Given the description of an element on the screen output the (x, y) to click on. 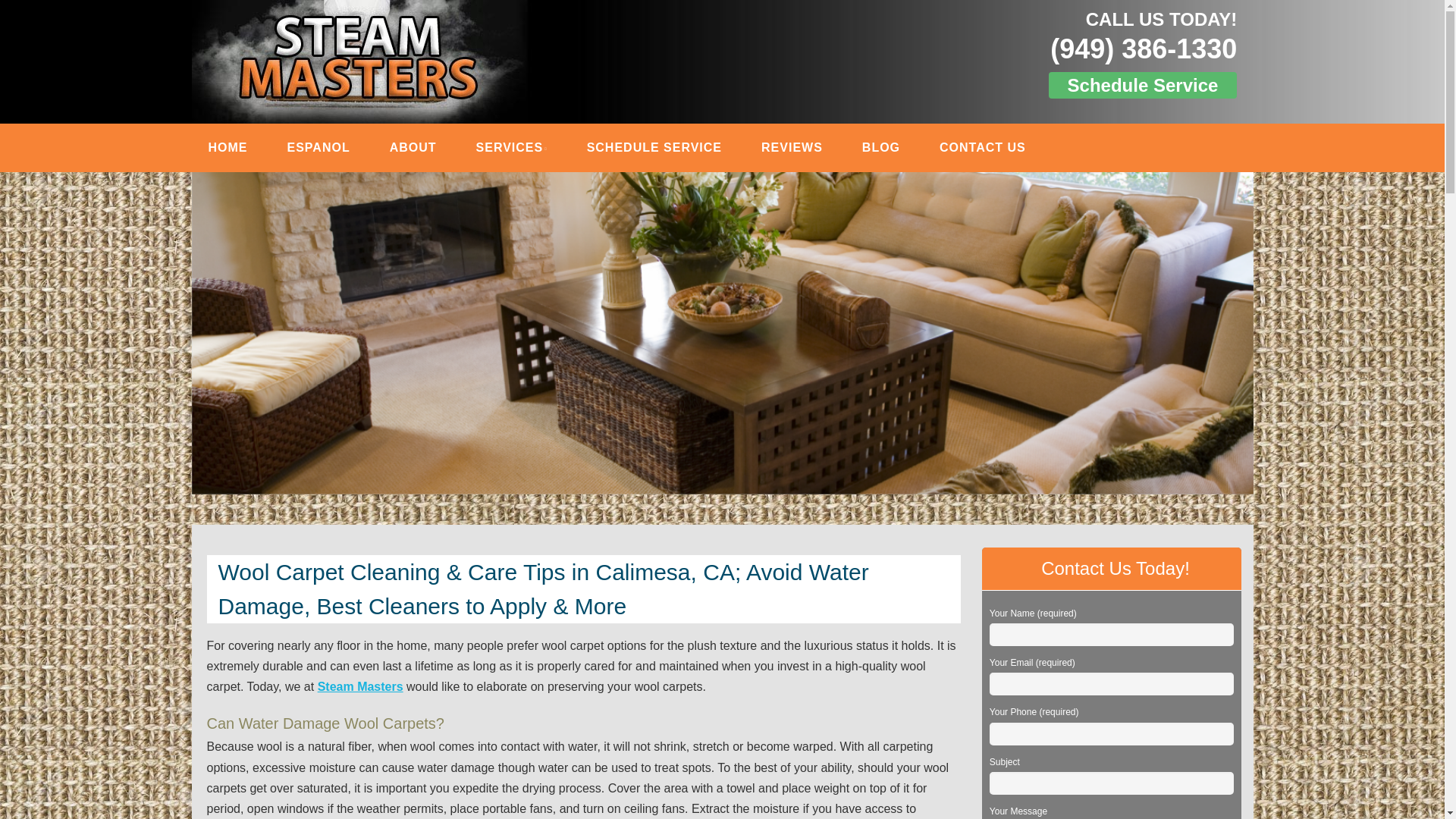
Steam Masters (360, 686)
ESPANOL (317, 147)
SCHEDULE SERVICE (654, 147)
REVIEWS (791, 147)
BLOG (880, 147)
SERVICES (511, 147)
ABOUT (412, 147)
HOME (227, 147)
Schedule Service (1142, 85)
CONTACT US (982, 147)
ORANGE COUNTY STEAM MASTERS (454, 32)
Orange County Steam Masters (454, 32)
